Given the description of an element on the screen output the (x, y) to click on. 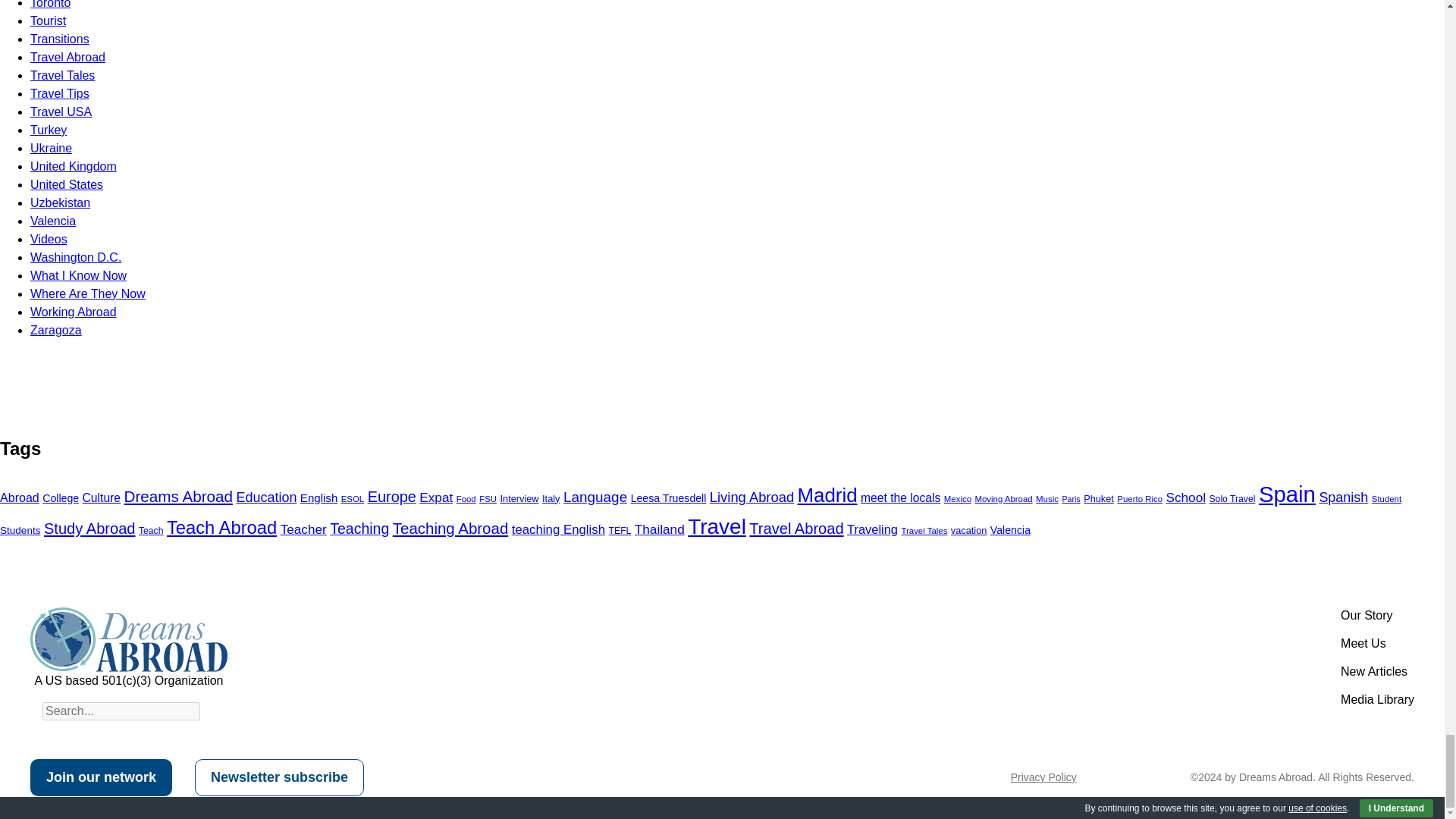
Dreams Abroad logo (128, 639)
